Given the description of an element on the screen output the (x, y) to click on. 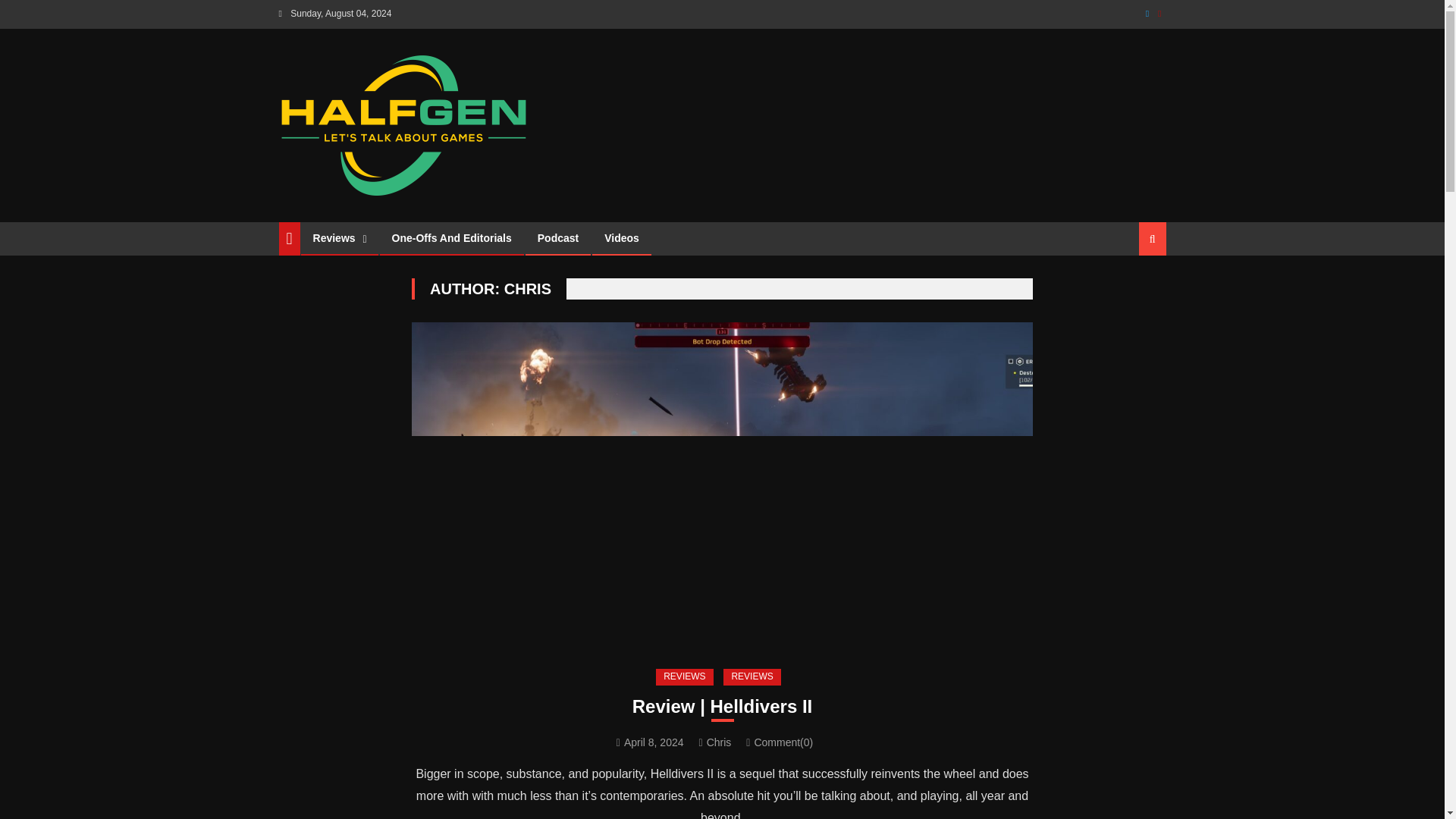
April 8, 2024 (654, 742)
Podcast (557, 237)
REVIEWS (751, 677)
Videos (621, 237)
One-Offs And Editorials (451, 237)
Chris (719, 742)
Search (1133, 291)
REVIEWS (684, 677)
Reviews (333, 237)
